Given the description of an element on the screen output the (x, y) to click on. 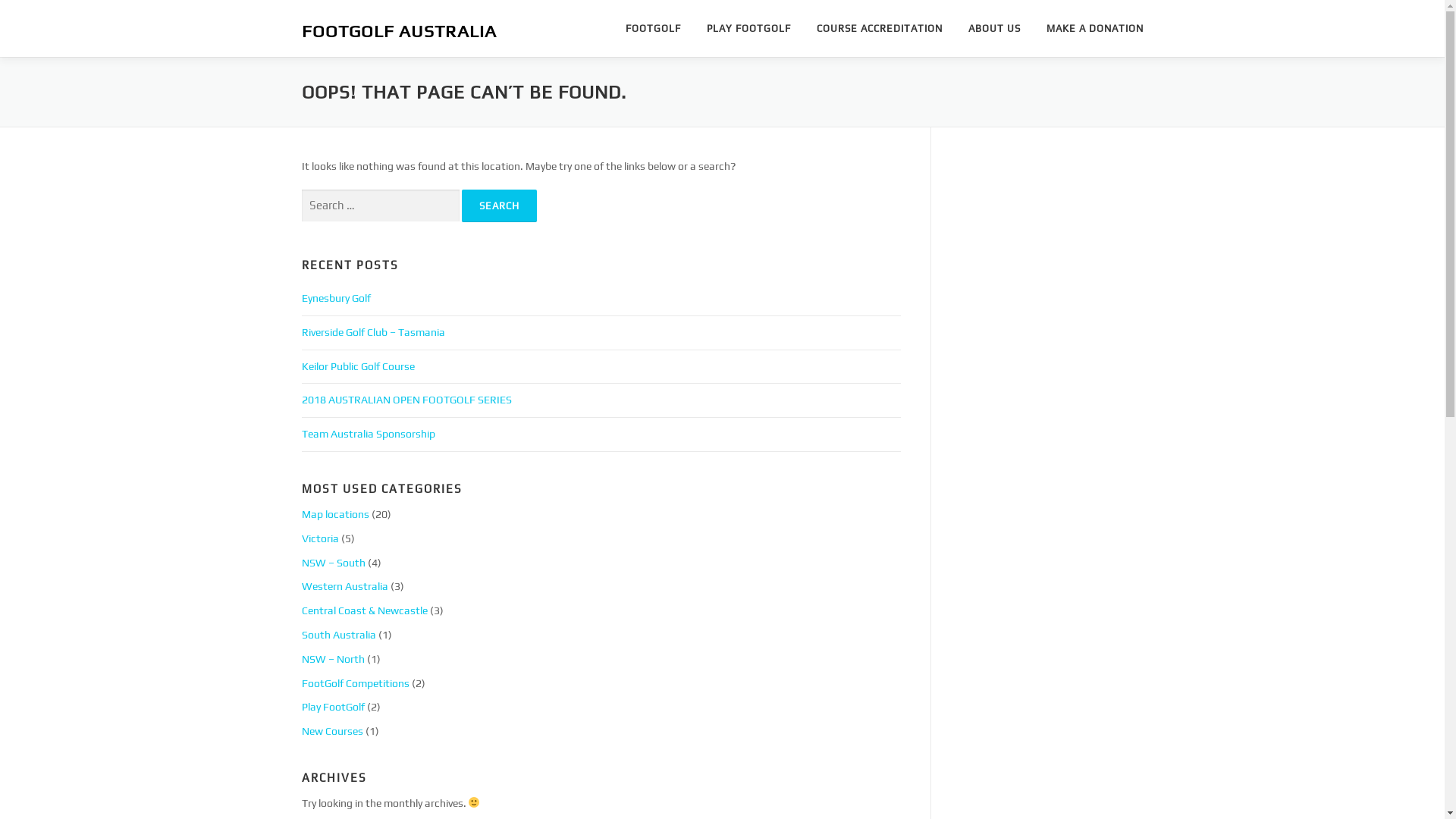
Search Element type: text (498, 205)
Play FootGolf Element type: text (332, 706)
Western Australia Element type: text (344, 586)
Team Australia Sponsorship Element type: text (368, 433)
FOOTGOLF AUSTRALIA Element type: text (398, 30)
Keilor Public Golf Course Element type: text (357, 366)
Central Coast & Newcastle Element type: text (364, 610)
Victoria Element type: text (319, 538)
FOOTGOLF Element type: text (652, 28)
Map locations Element type: text (335, 514)
COURSE ACCREDITATION Element type: text (879, 28)
New Courses Element type: text (332, 730)
South Australia Element type: text (338, 634)
FootGolf Competitions Element type: text (355, 683)
MAKE A DONATION Element type: text (1087, 28)
2018 AUSTRALIAN OPEN FOOTGOLF SERIES Element type: text (406, 399)
PLAY FOOTGOLF Element type: text (748, 28)
ABOUT US Element type: text (994, 28)
Eynesbury Golf Element type: text (335, 297)
